Given the description of an element on the screen output the (x, y) to click on. 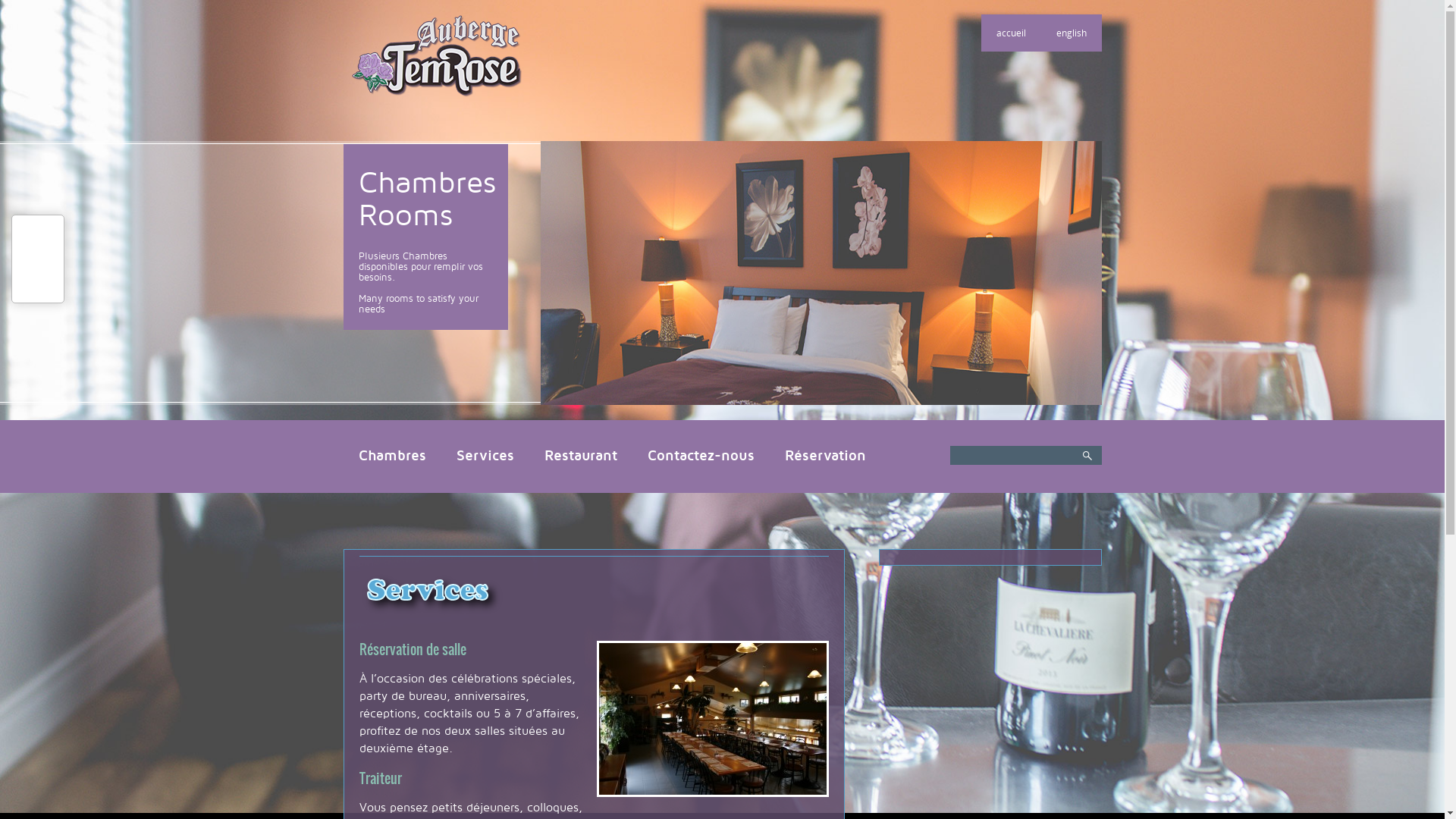
accueil Element type: text (1011, 32)
english Element type: text (1070, 32)
Chambres Rooms Element type: text (426, 199)
Restaurant Element type: text (580, 455)
Contactez-nous Element type: text (700, 455)
Chambres Element type: text (391, 455)
Services Element type: text (485, 455)
Auberge TemRose Element type: hover (437, 56)
